Given the description of an element on the screen output the (x, y) to click on. 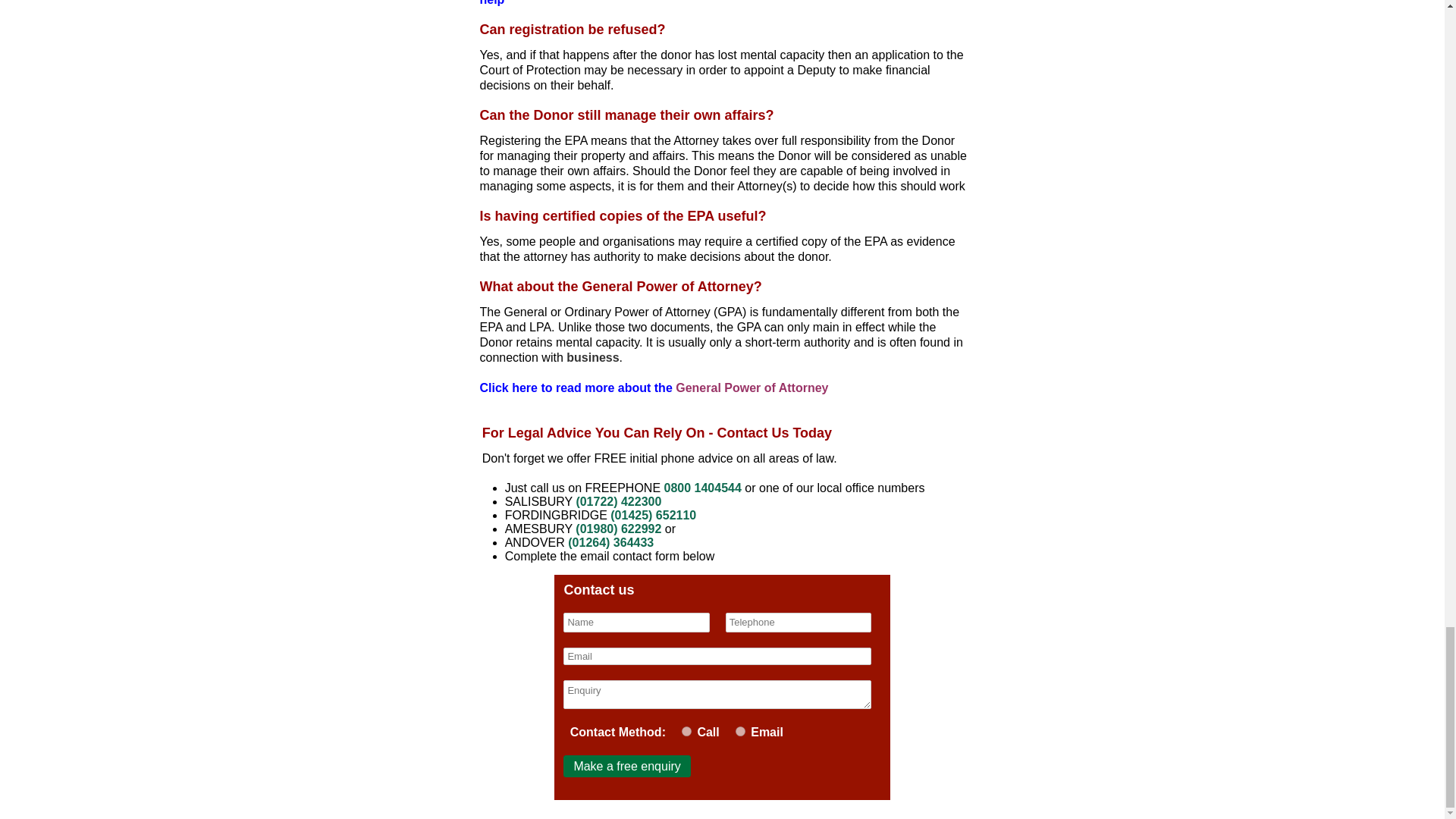
Email (740, 731)
Make a free enquiry (626, 766)
Call (686, 731)
